Given the description of an element on the screen output the (x, y) to click on. 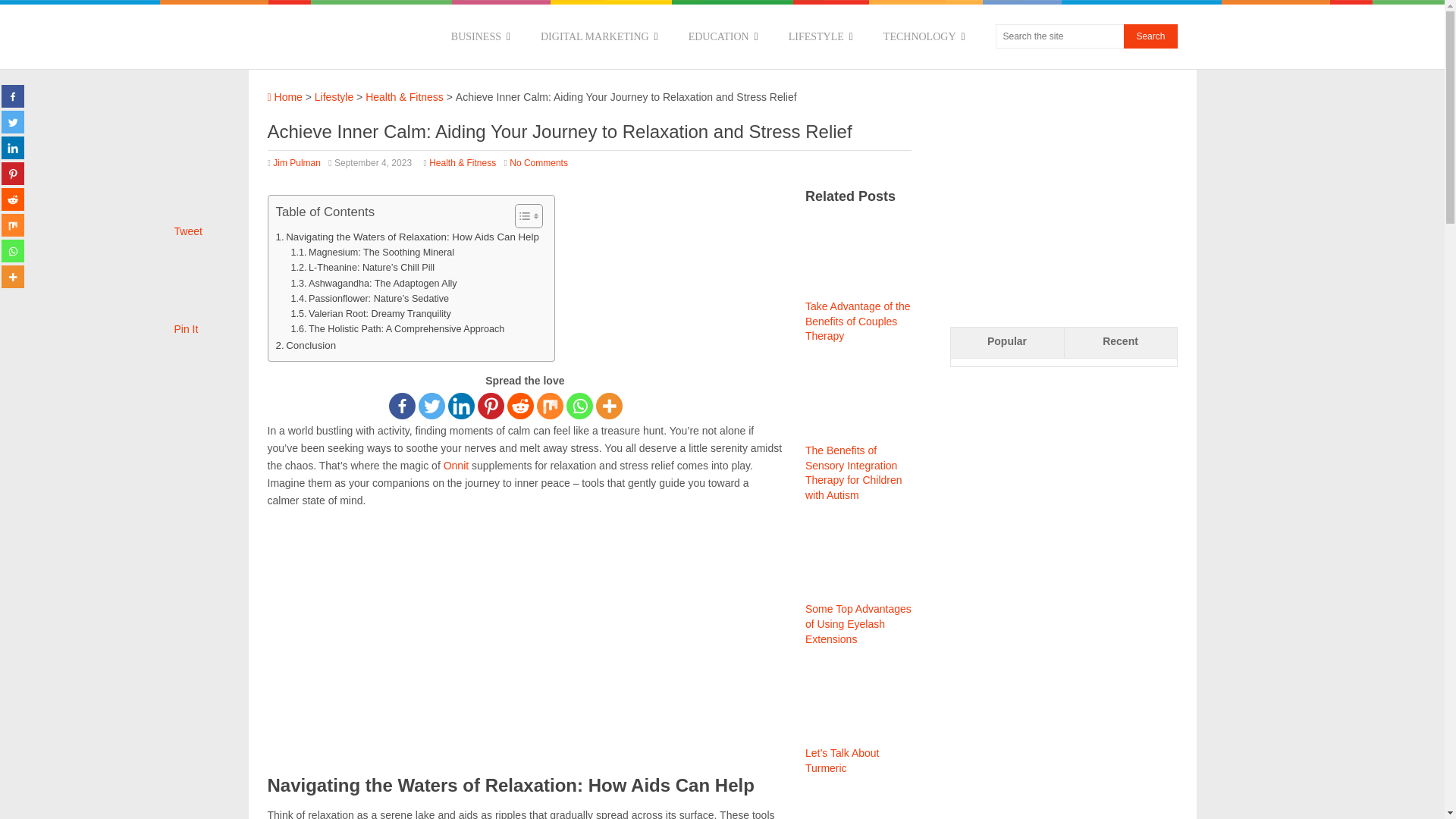
DIGITAL MARKETING (599, 36)
Search (1150, 36)
TECHNOLOGY (924, 36)
LIFESTYLE (821, 36)
BUSINESS (481, 36)
Linkedin (461, 406)
Navigating the Waters of Relaxation: How Aids Can Help (407, 236)
Ashwagandha: The Adaptogen Ally (373, 283)
EDUCATION (723, 36)
Valerian Root: Dreamy Tranquility (369, 313)
Mix (550, 406)
Whatsapp (579, 406)
Reddit (520, 406)
Conclusion (306, 344)
Facebook (401, 406)
